Given the description of an element on the screen output the (x, y) to click on. 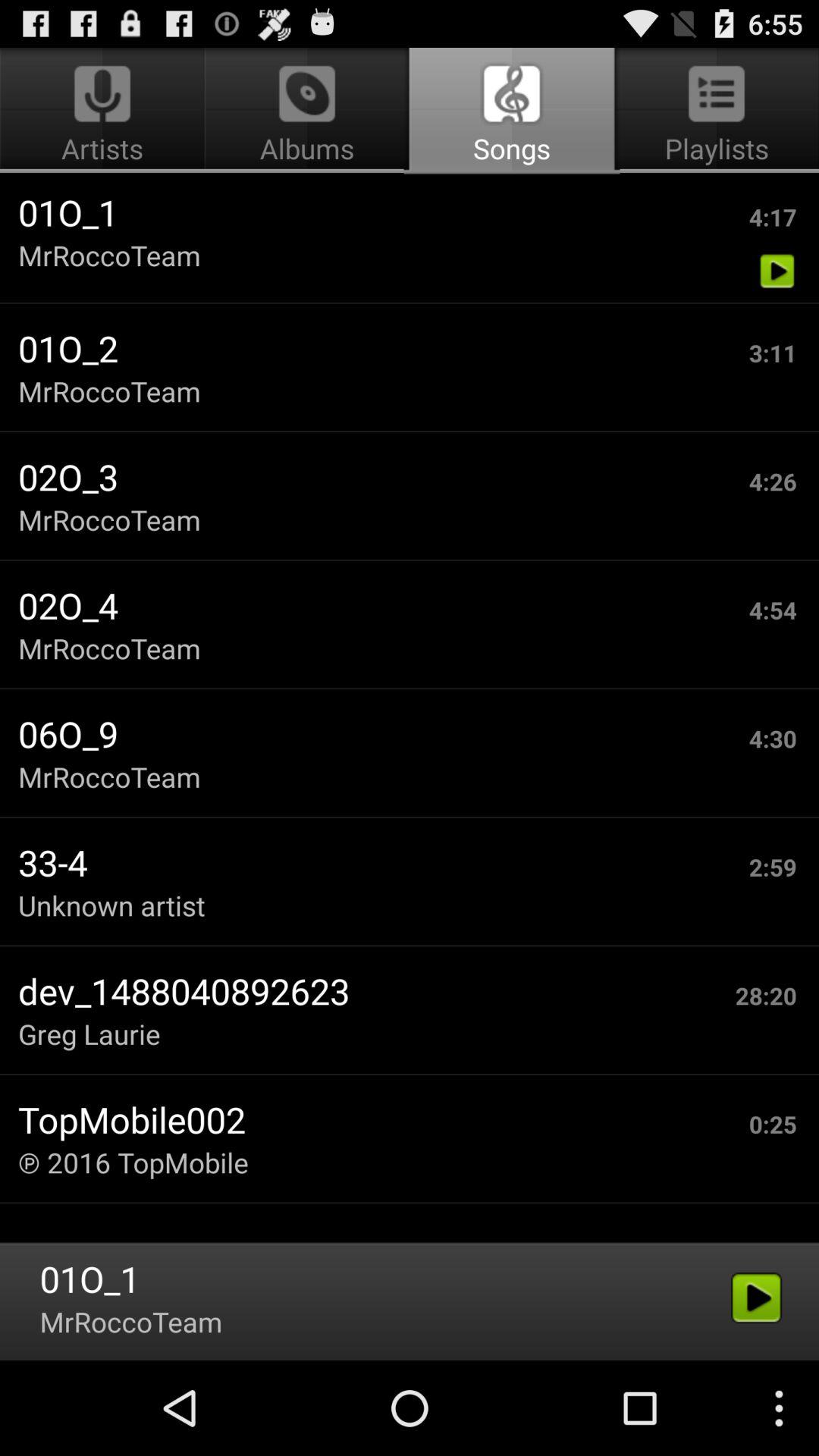
turn off the app at the top left corner (105, 111)
